Given the description of an element on the screen output the (x, y) to click on. 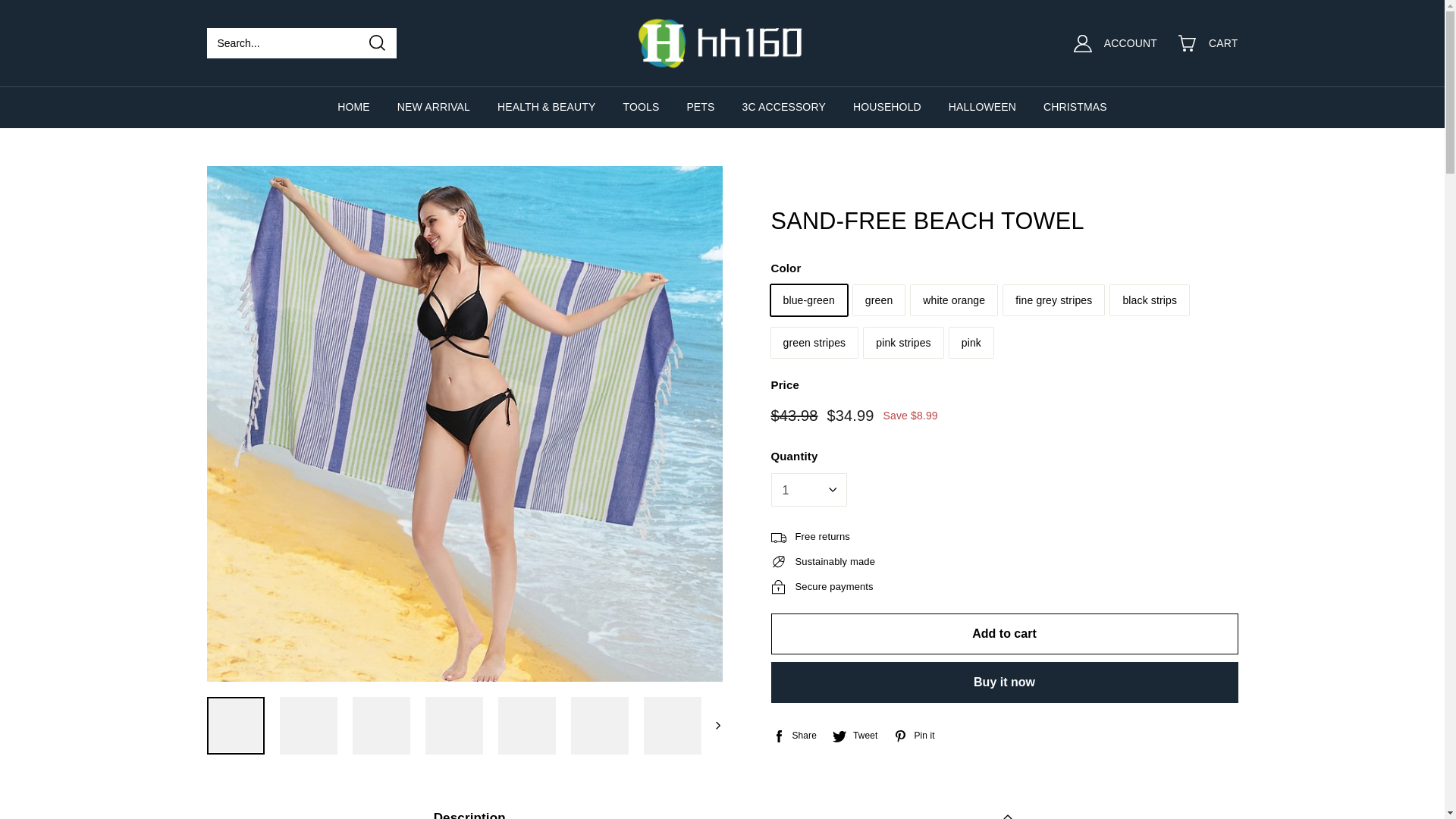
NEW ARRIVAL (433, 106)
HALLOWEEN (982, 106)
CART (1216, 43)
3C ACCESSORY (783, 106)
CHRISTMAS (1074, 106)
TOOLS (641, 106)
HOUSEHOLD (887, 106)
